Given the description of an element on the screen output the (x, y) to click on. 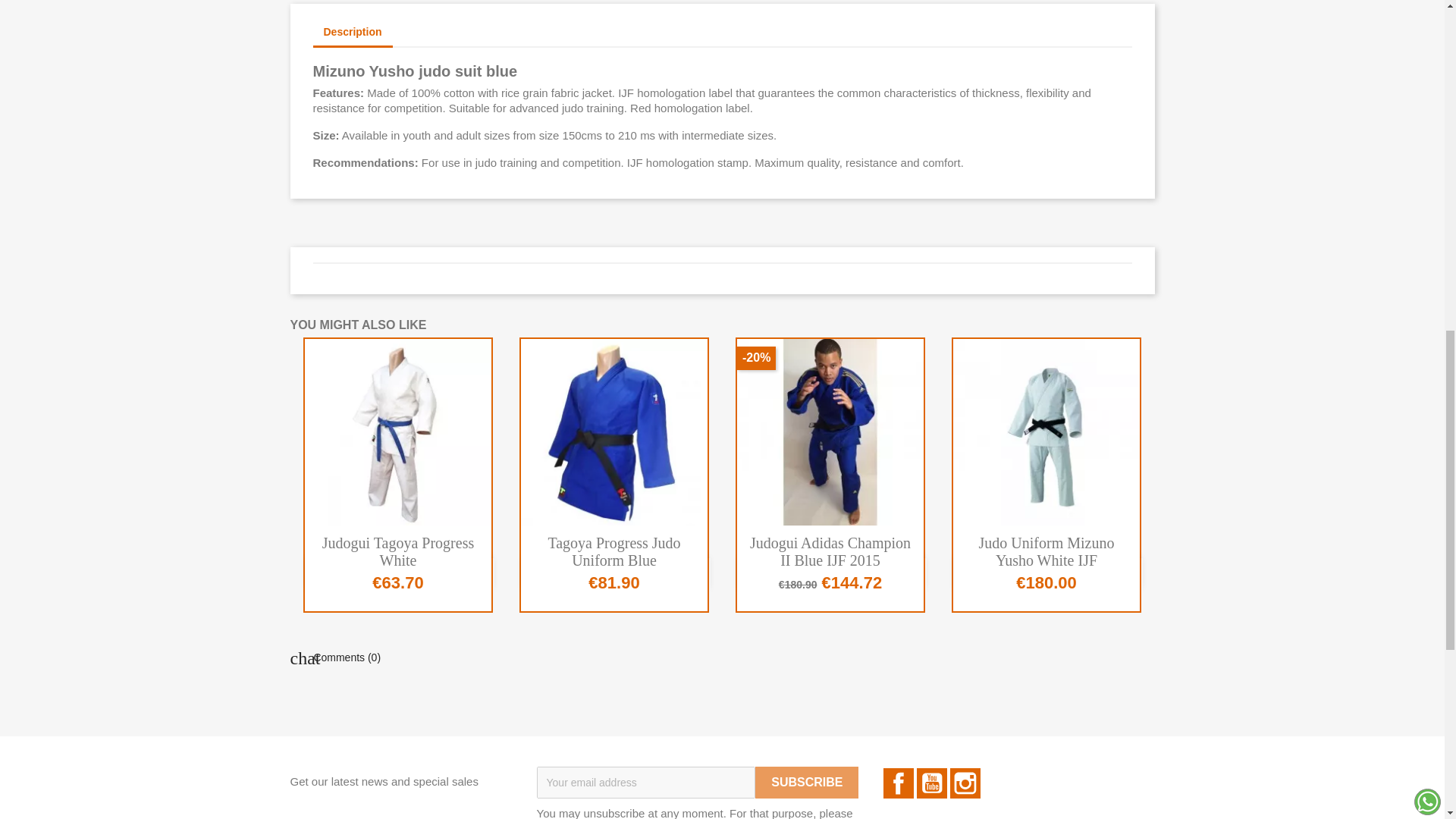
Subscribe (807, 782)
